Given the description of an element on the screen output the (x, y) to click on. 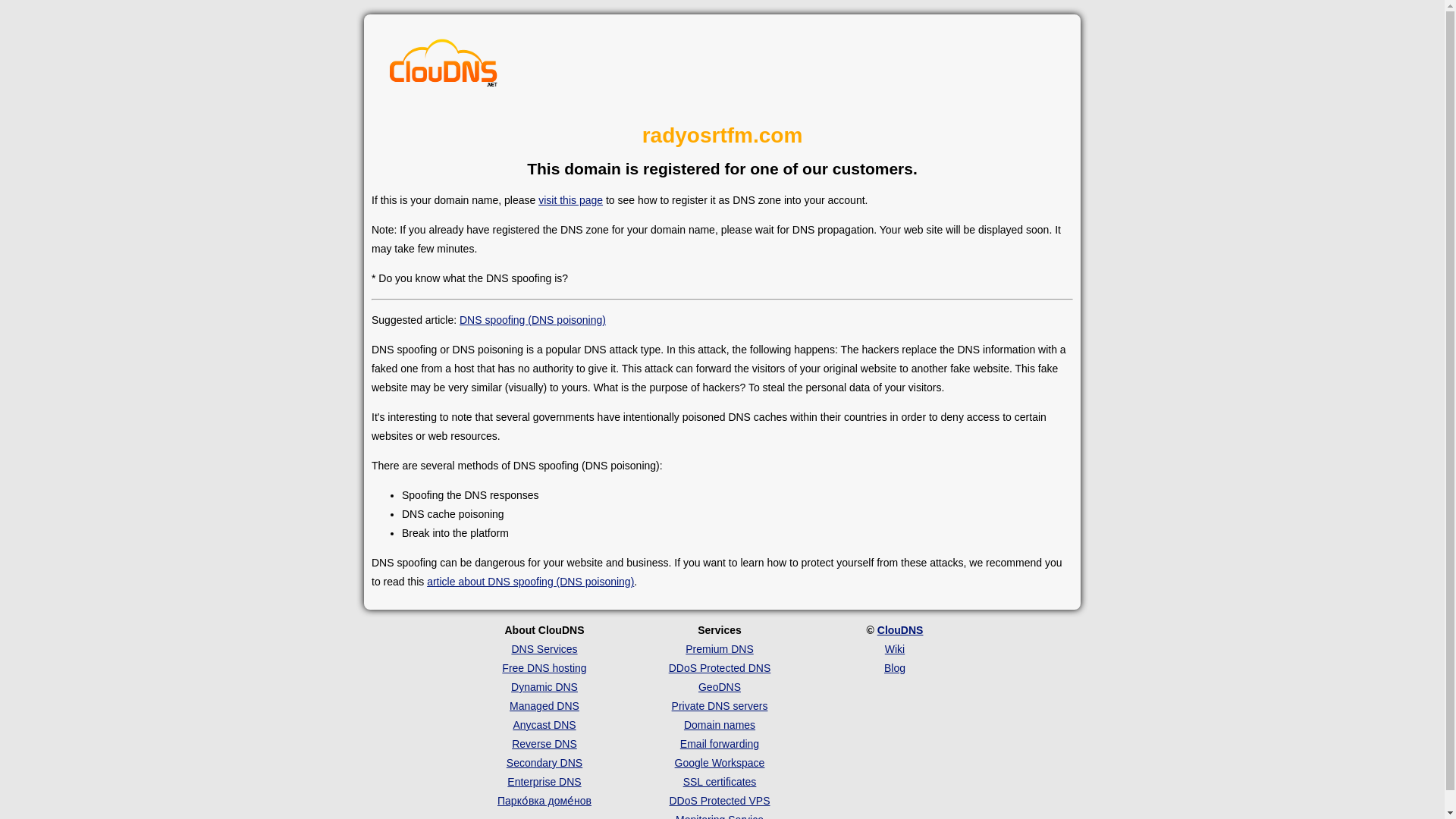
Reverse DNS (544, 743)
Free DNS hosting (544, 667)
ClouDNS (900, 630)
Private DNS servers (719, 705)
Dynamic DNS (544, 686)
Secondary DNS (544, 762)
DDoS Protected DNS (719, 667)
Domain names (719, 725)
Google Workspace (720, 762)
Wiki (894, 648)
Cloud DNS (443, 66)
SSL certificates (719, 781)
Premium DNS (718, 648)
Monitoring Service (718, 816)
Managed DNS (544, 705)
